Given the description of an element on the screen output the (x, y) to click on. 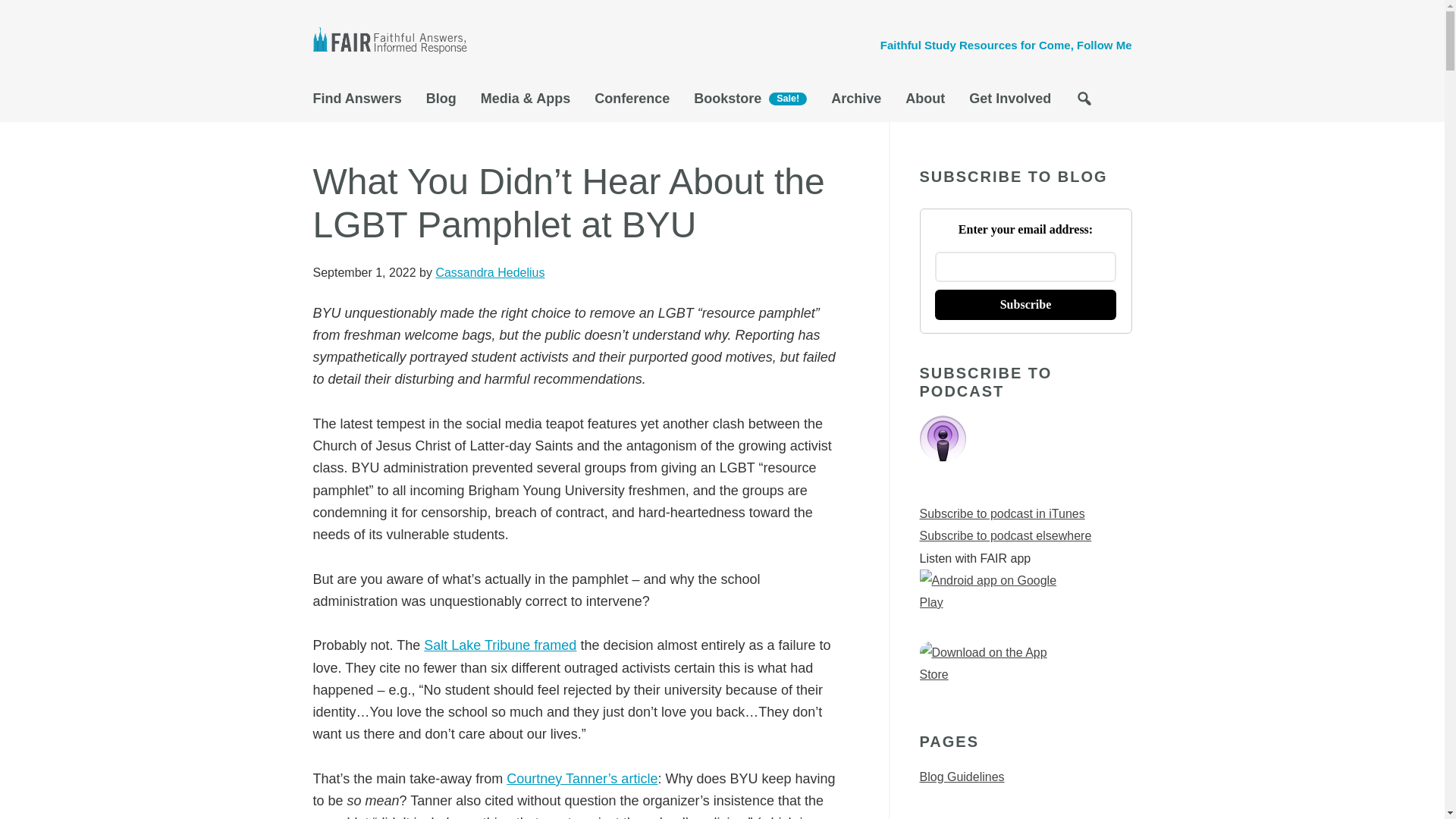
About (924, 102)
Archive (855, 102)
Get Involved (1009, 102)
Faithful Study Resources for Come, Follow Me (1006, 44)
Conference (631, 102)
FAIR (396, 42)
Cassandra Hedelius (489, 272)
Blog (440, 102)
Bookstore (749, 103)
Salt Lake Tribune framed (499, 645)
Find Answers (363, 102)
